Given the description of an element on the screen output the (x, y) to click on. 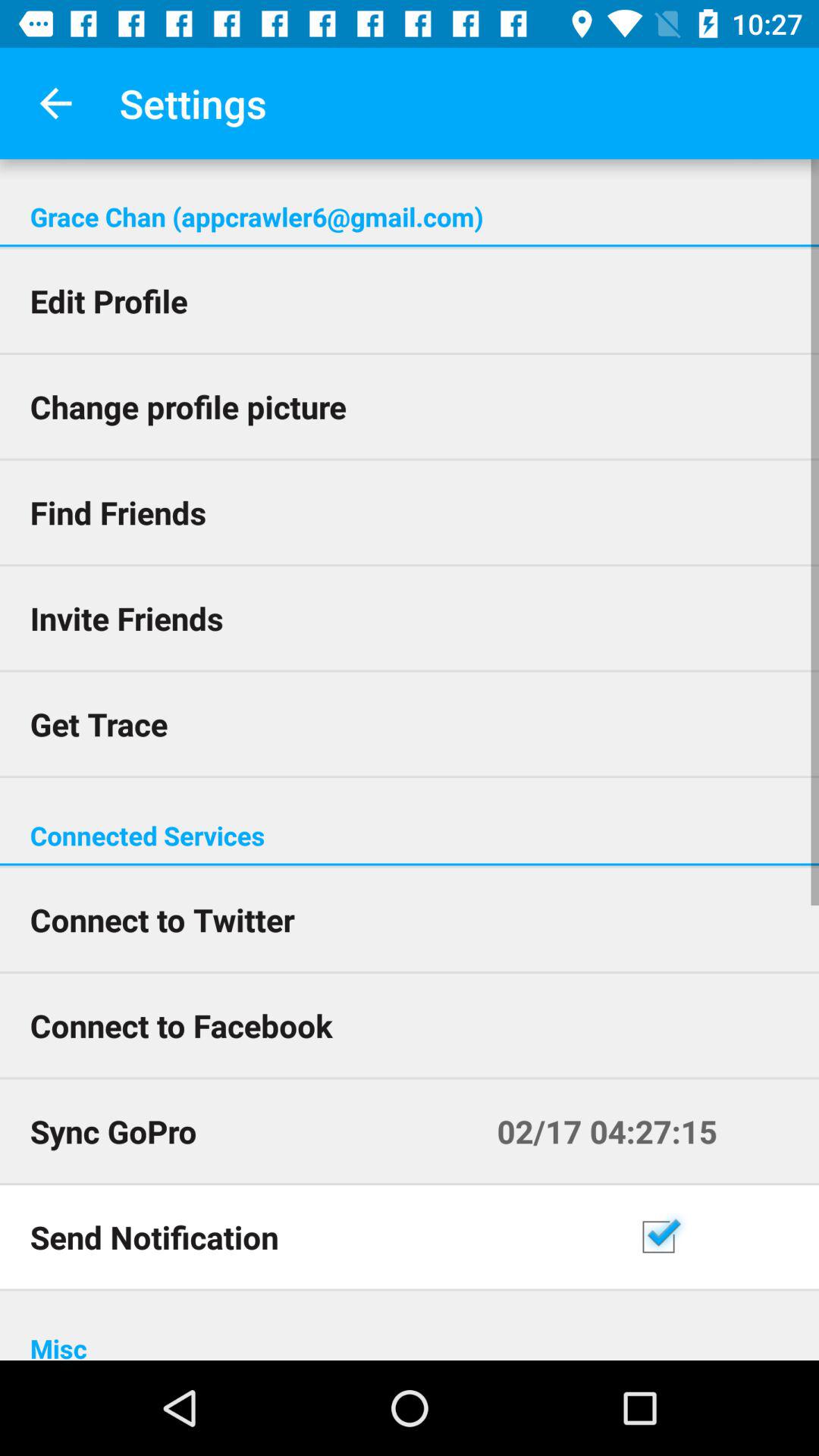
tap the item below grace chan appcrawler6 icon (409, 245)
